Given the description of an element on the screen output the (x, y) to click on. 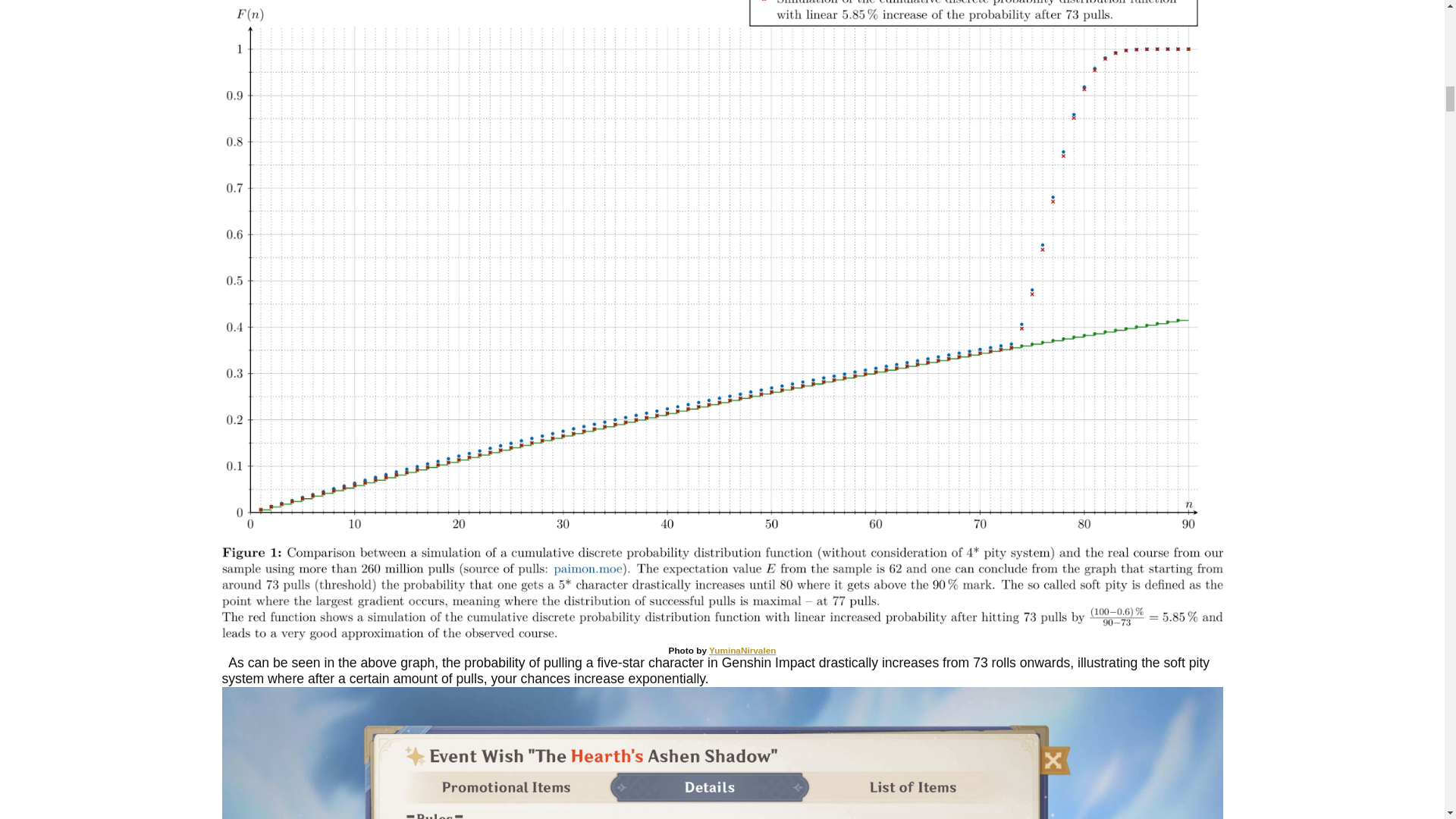
YuminaNirvalen (742, 650)
